Given the description of an element on the screen output the (x, y) to click on. 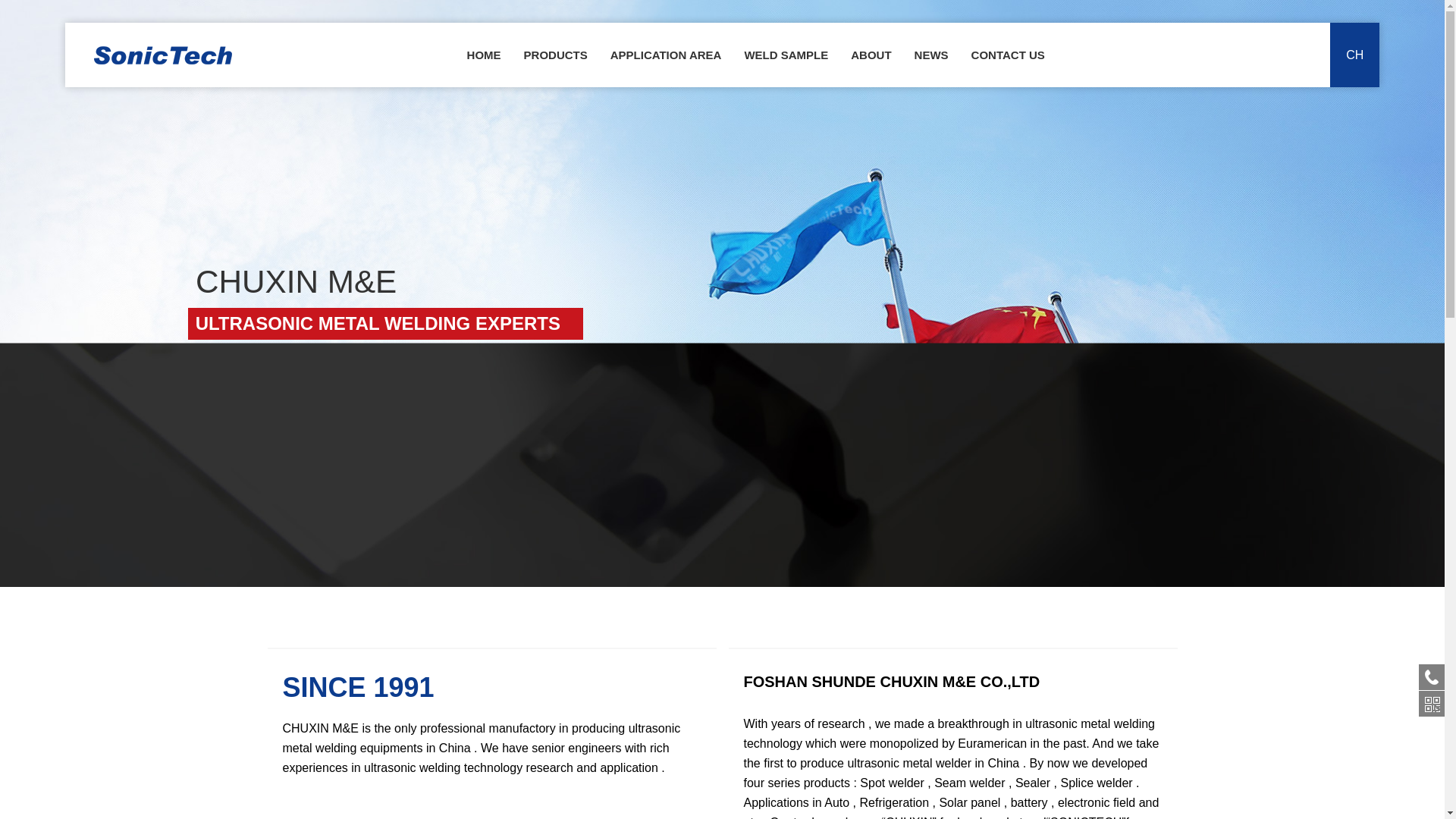
Products (555, 54)
Application area (665, 54)
Weld Sample (786, 54)
Contact Us (1008, 54)
WELD SAMPLE (786, 54)
PRODUCTS (555, 54)
APPLICATION AREA (665, 54)
About (871, 54)
CONTACT US (1008, 54)
ABOUT (871, 54)
